Given the description of an element on the screen output the (x, y) to click on. 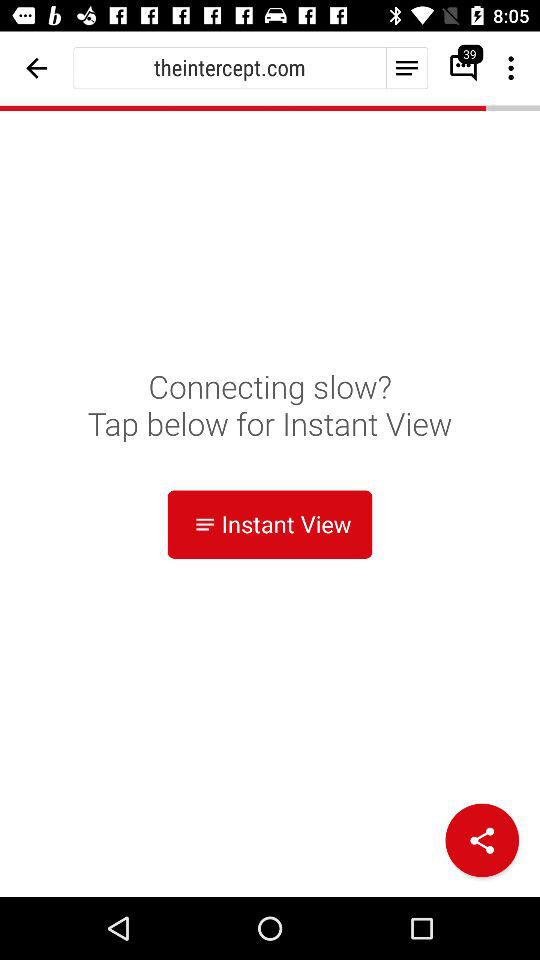
click on the icon just to the left of message icon (407, 68)
click on the message icon which is just to the left of option icon (457, 67)
no bounding box (36, 67)
select the text at the top (229, 68)
tap the share button (482, 840)
select the icon which is right to the message icon (513, 67)
